Given the description of an element on the screen output the (x, y) to click on. 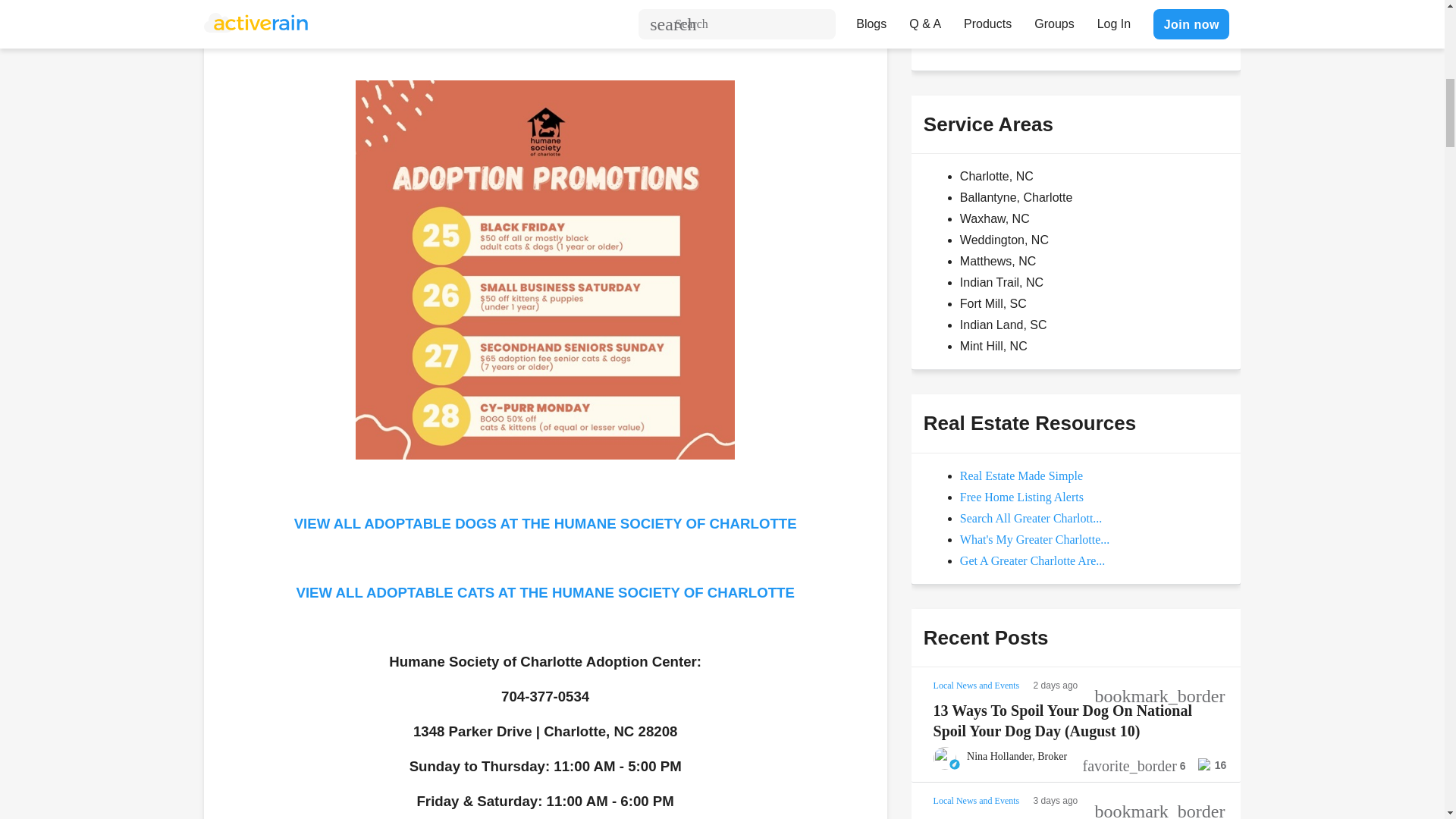
Send Message (978, 30)
VIEW ALL ADOPTABLE DOGS AT THE HUMANE SOCIETY OF CHARLOTTE (545, 523)
VIEW ALL ADOPTABLE CATS AT THE HUMANE SOCIETY OF CHARLOTTE (544, 592)
